Given the description of an element on the screen output the (x, y) to click on. 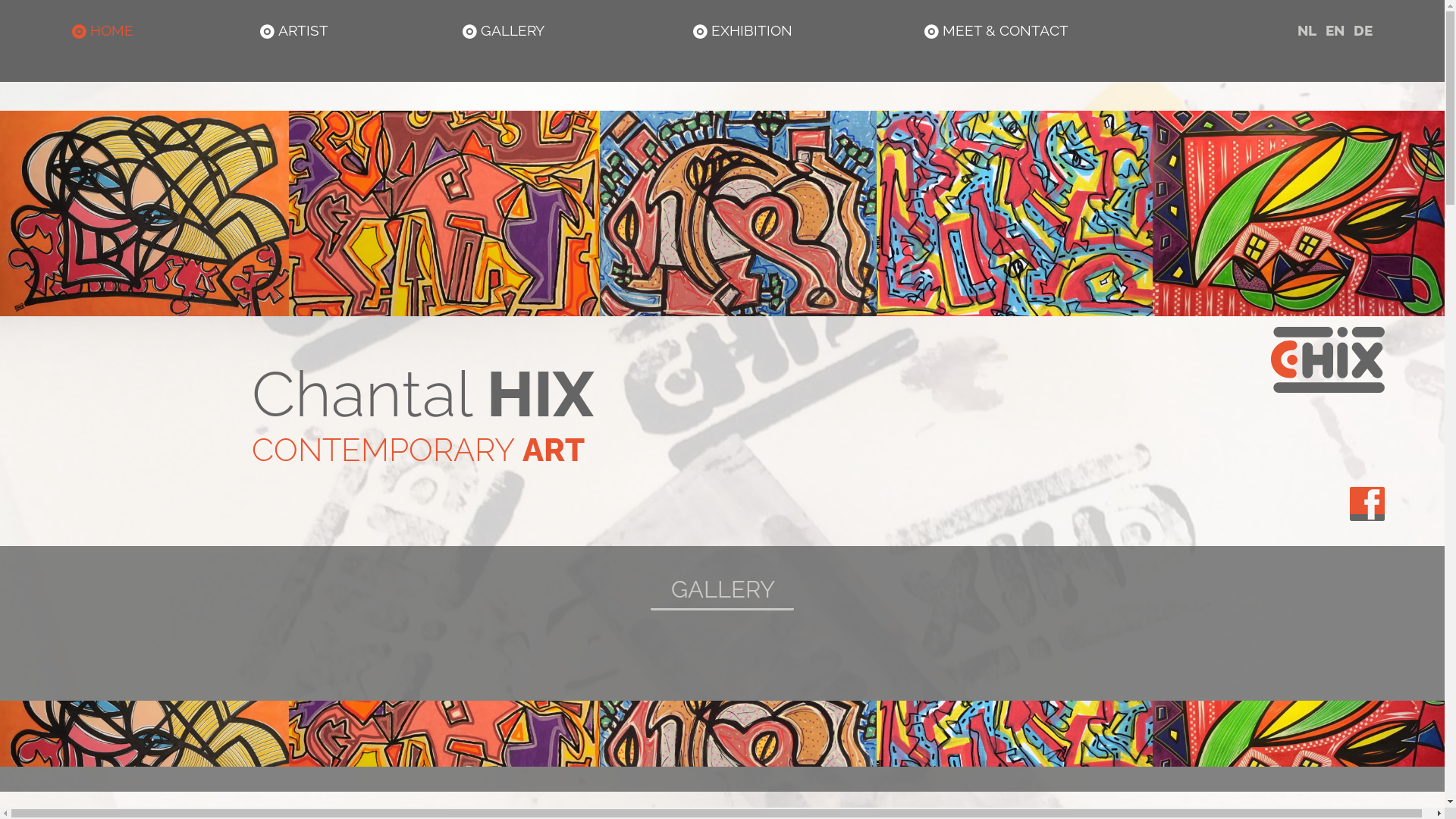
 EN Element type: text (1333, 29)
 GALLERY Element type: text (503, 30)
 NL Element type: text (1305, 29)
 ARTIST Element type: text (294, 30)
 DE Element type: text (1361, 29)
 MEET & CONTACT Element type: text (996, 30)
 HOME Element type: text (102, 30)
 EXHIBITION Element type: text (742, 30)
  GALLERY   Element type: text (721, 578)
